Given the description of an element on the screen output the (x, y) to click on. 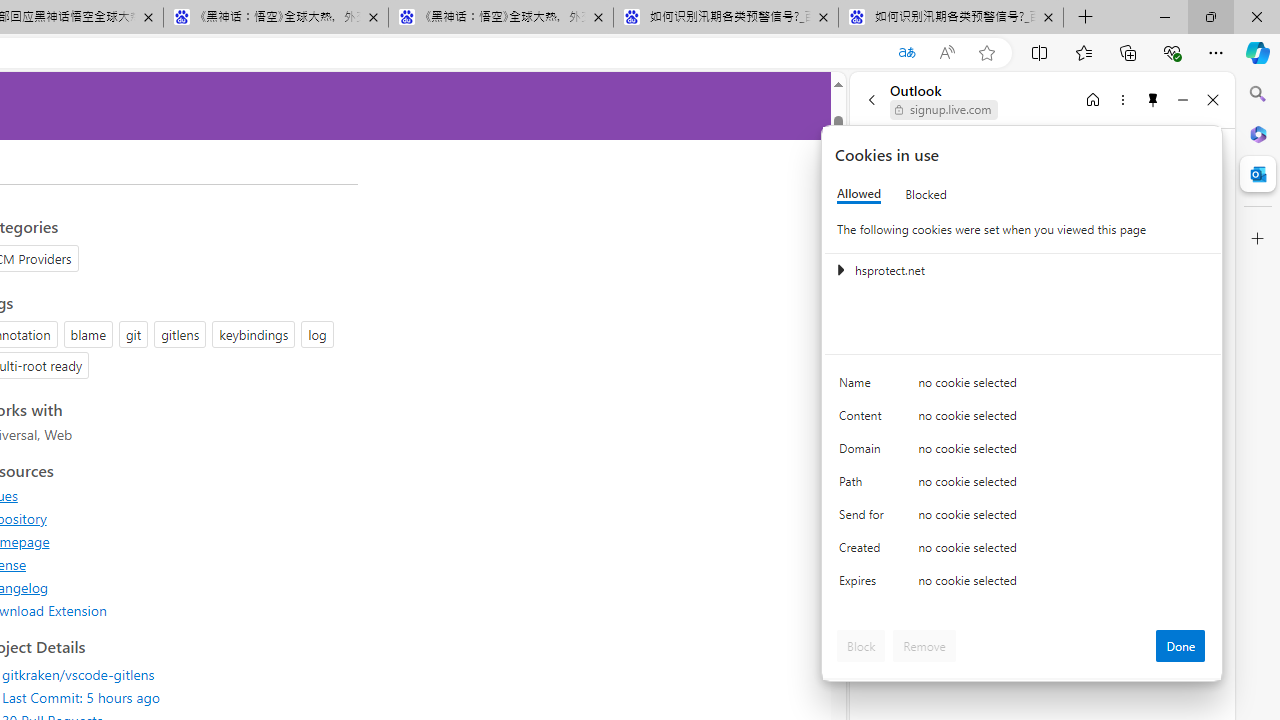
Class: c0153 c0157 (1023, 584)
Translated (906, 53)
Created (864, 552)
Remove (924, 645)
